Given the description of an element on the screen output the (x, y) to click on. 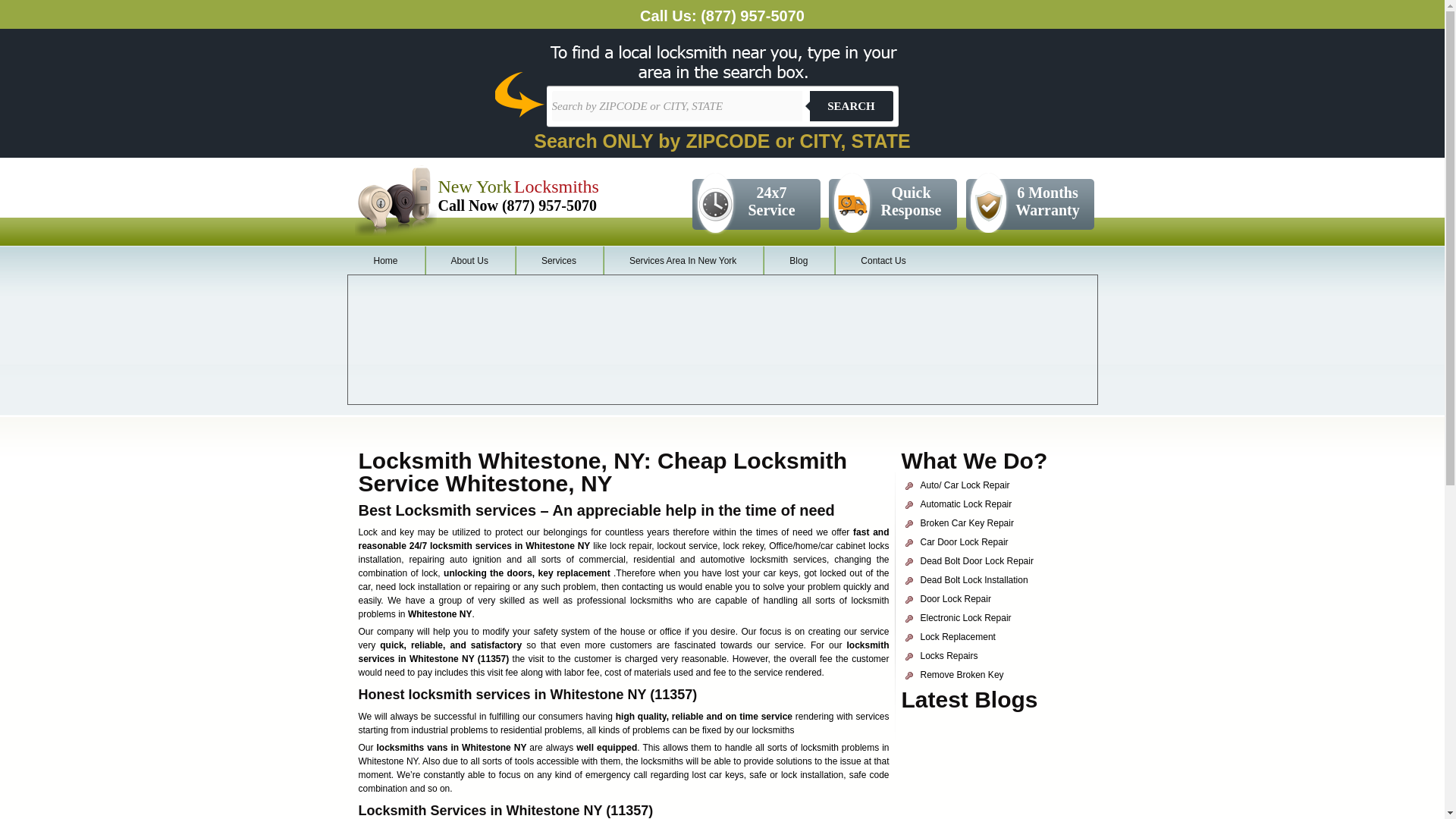
Home (386, 260)
Services Area In New York (682, 260)
New York Locksmiths (518, 189)
About Us (470, 260)
SEARCH (851, 105)
Contact Us (882, 260)
Blog (798, 260)
Services (558, 260)
